Given the description of an element on the screen output the (x, y) to click on. 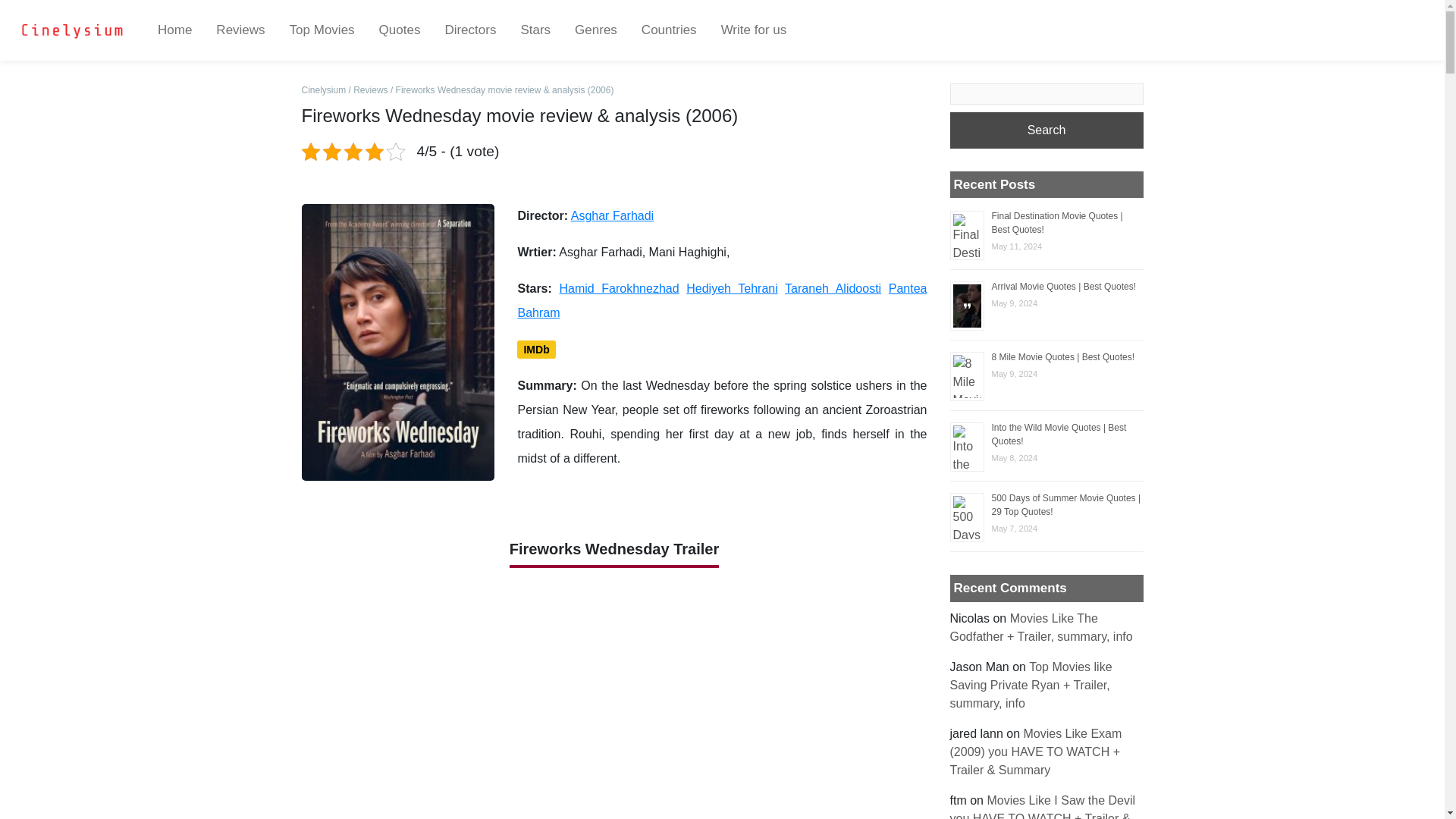
Directors (470, 30)
Top Movies (322, 30)
Genres (595, 30)
Search (1045, 130)
Pantea Bahram (721, 300)
Asghar Farhadi (600, 251)
Reviews (239, 30)
Quotes (399, 30)
Mani Haghighi (687, 251)
